Given the description of an element on the screen output the (x, y) to click on. 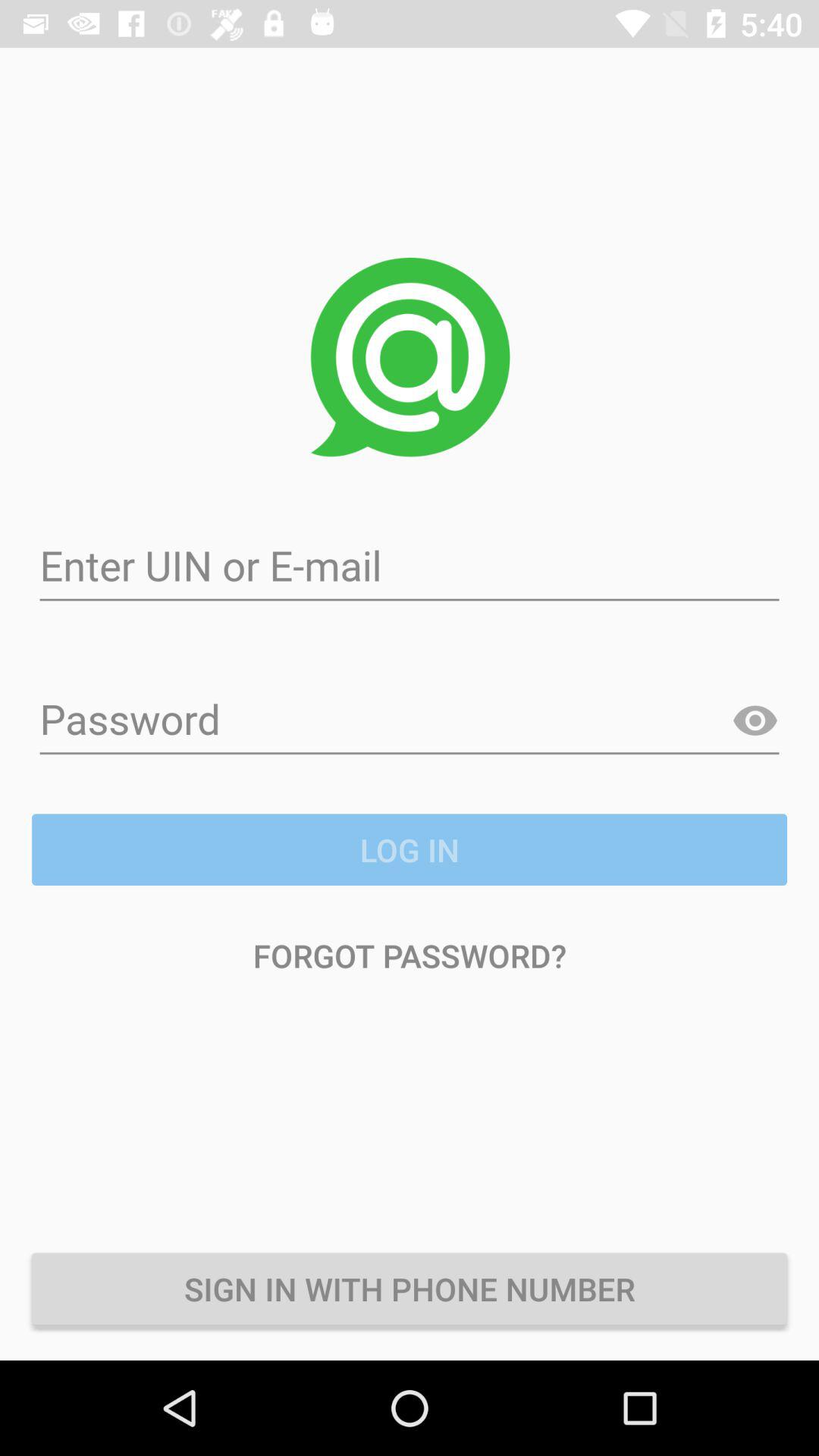
swipe to sign in with item (409, 1288)
